Given the description of an element on the screen output the (x, y) to click on. 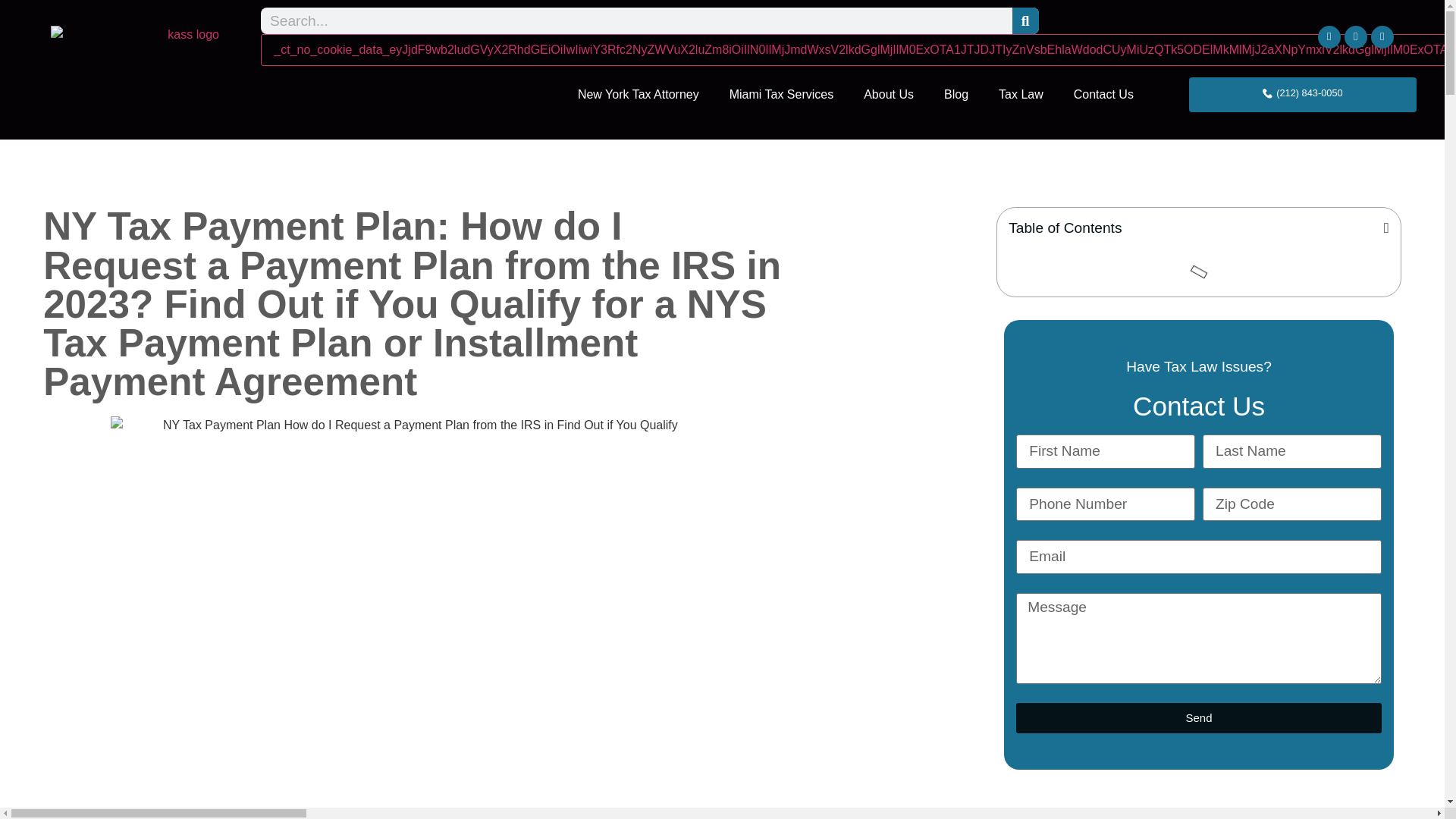
New York Tax Attorney (638, 94)
Tax Law (1021, 94)
Miami Tax Services (781, 94)
Contact Us (1103, 94)
Blog (956, 94)
About Us (888, 94)
